Given the description of an element on the screen output the (x, y) to click on. 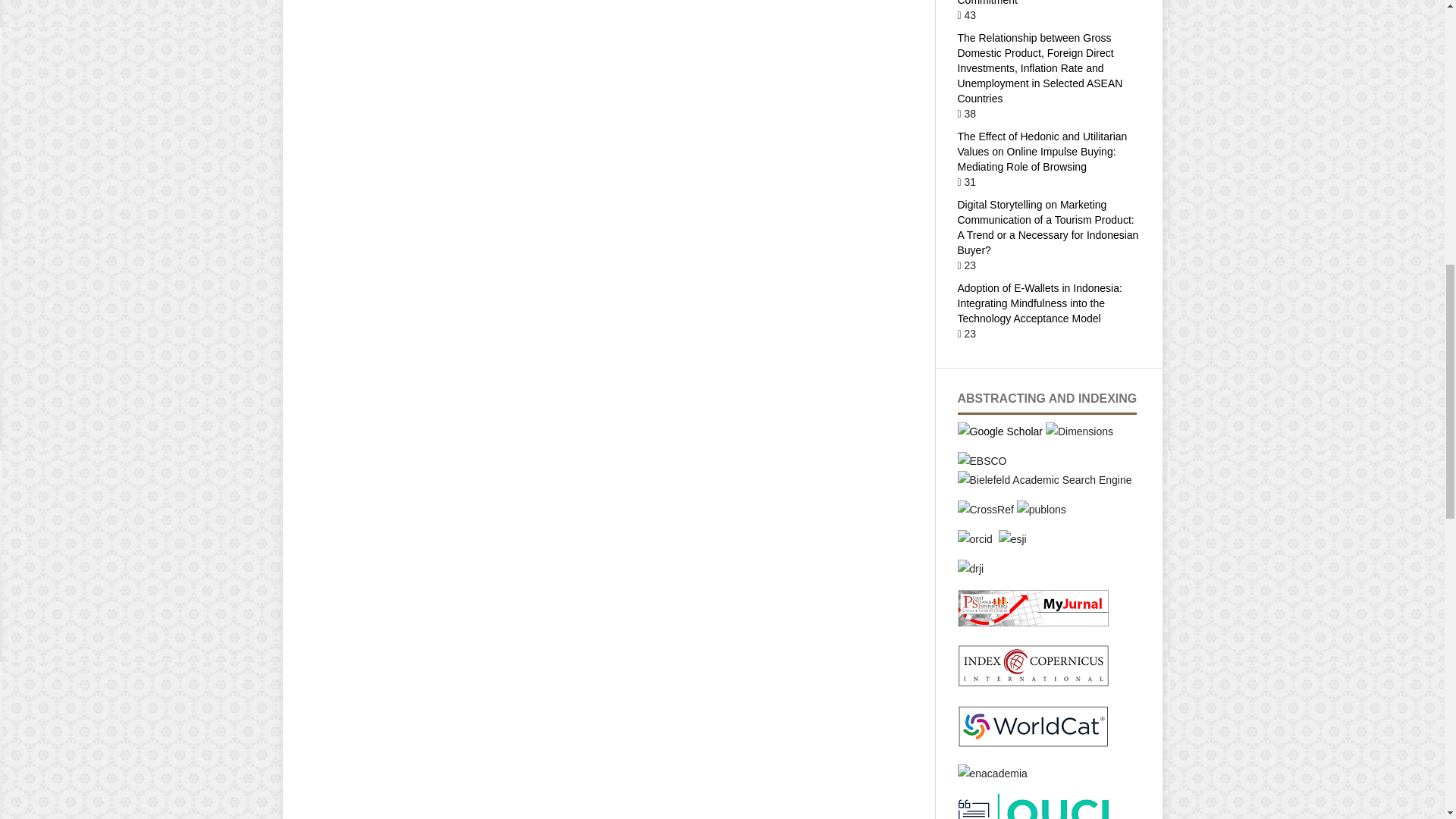
Google Scholar (999, 431)
